Given the description of an element on the screen output the (x, y) to click on. 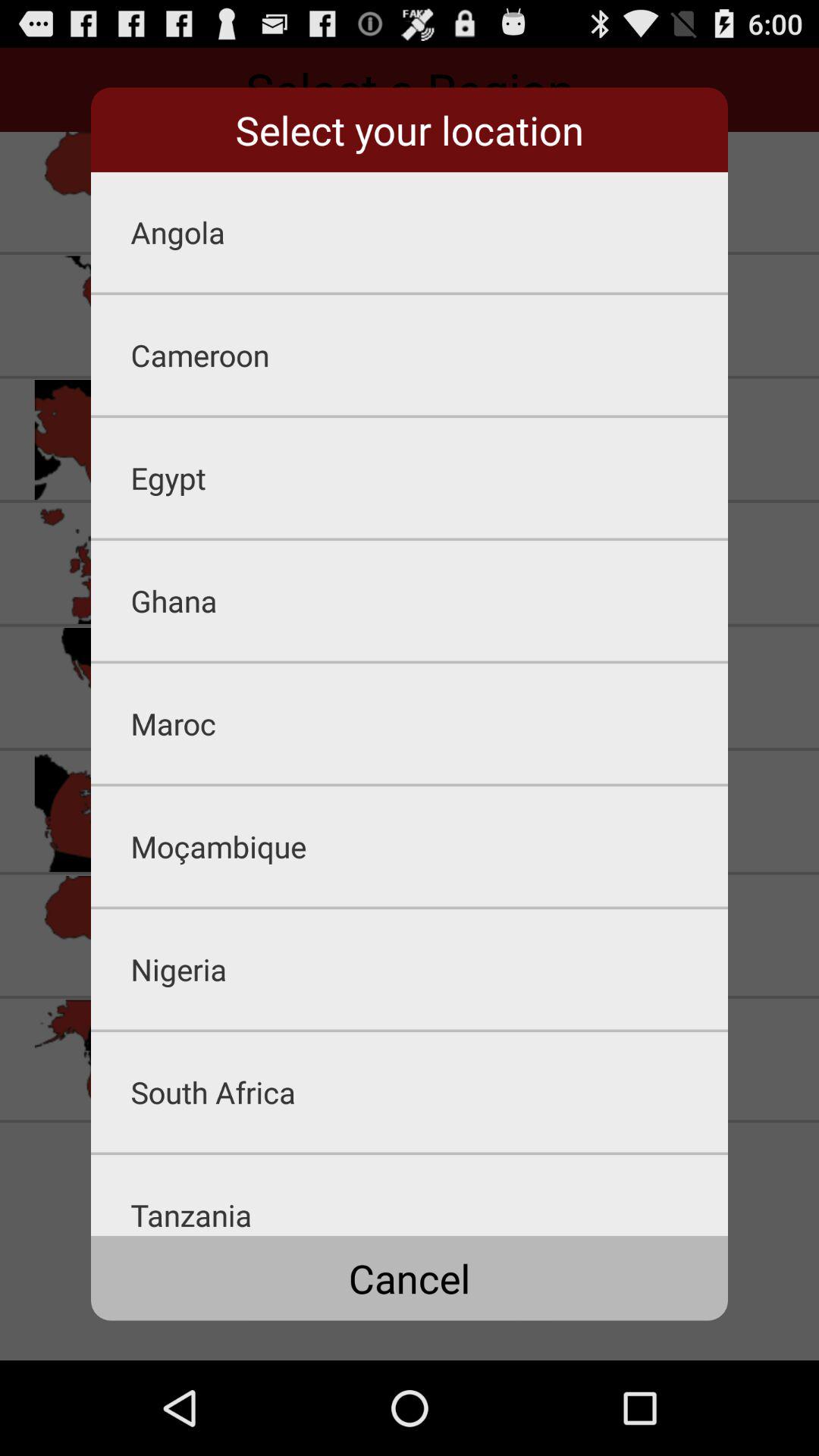
turn on south africa (429, 1092)
